Given the description of an element on the screen output the (x, y) to click on. 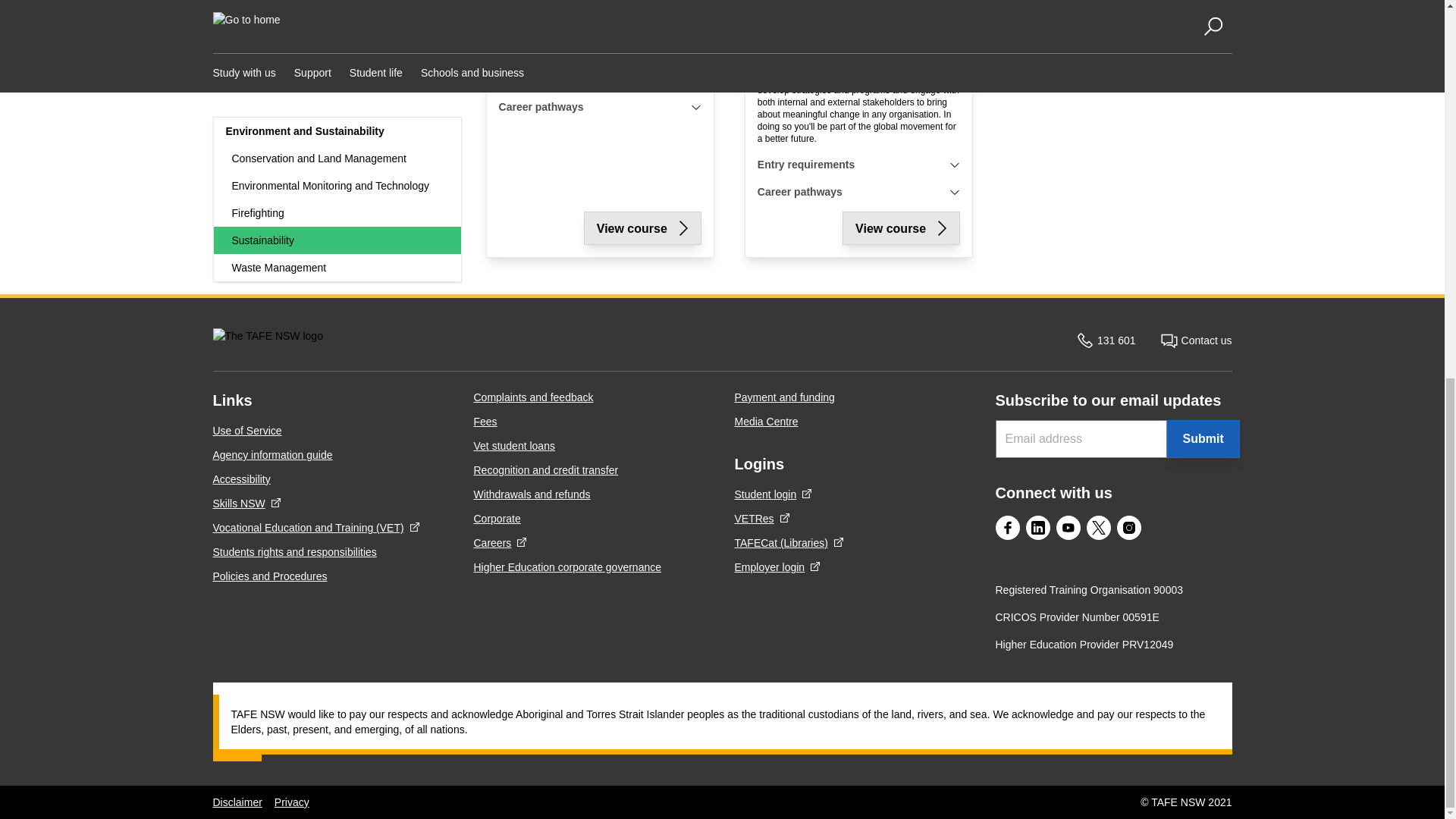
show requirements (695, 79)
show requirements (954, 163)
show requirements (695, 106)
show requirements (954, 191)
